Given the description of an element on the screen output the (x, y) to click on. 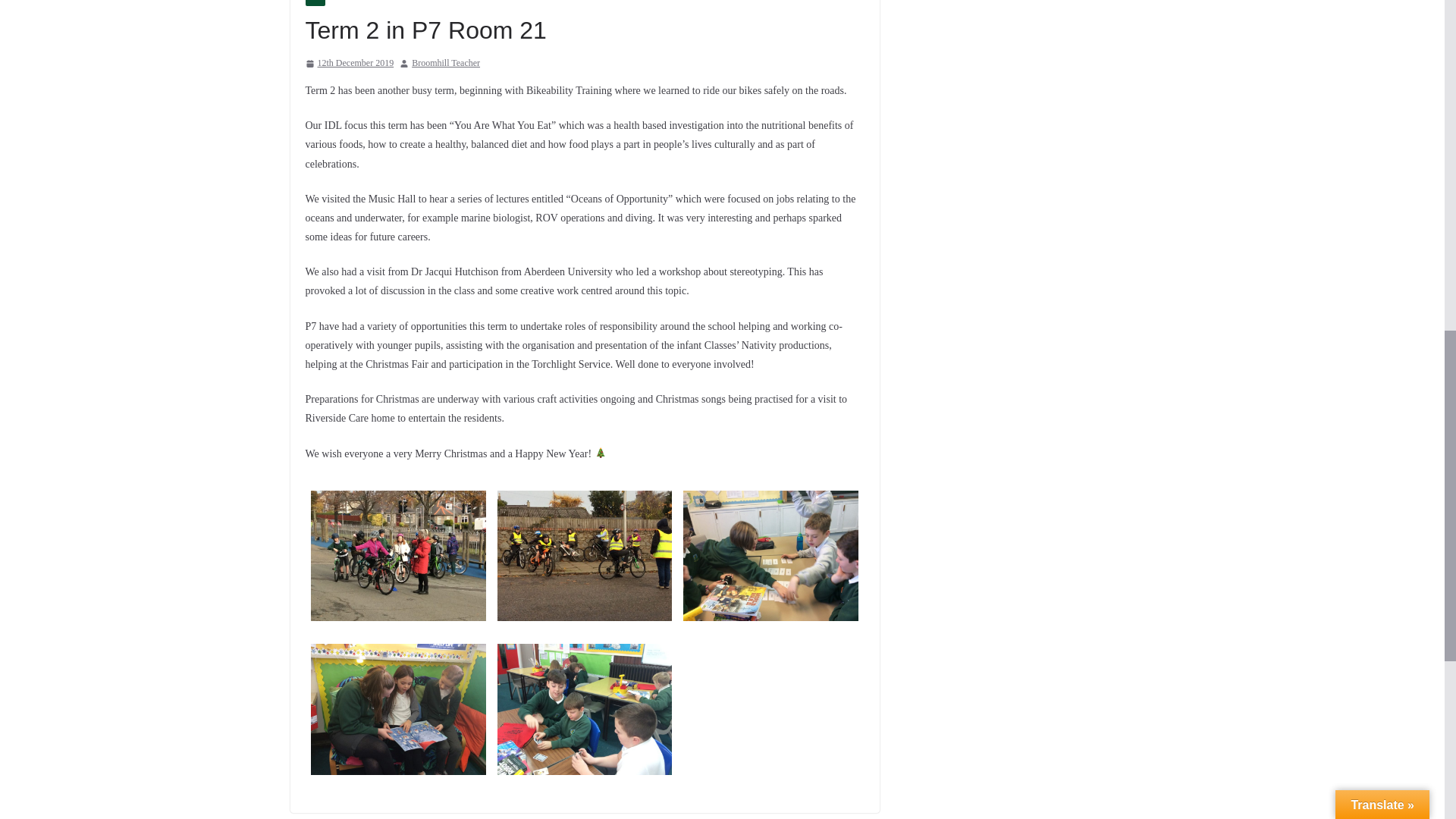
9:08 am (348, 63)
Broomhill Teacher (446, 63)
